Given the description of an element on the screen output the (x, y) to click on. 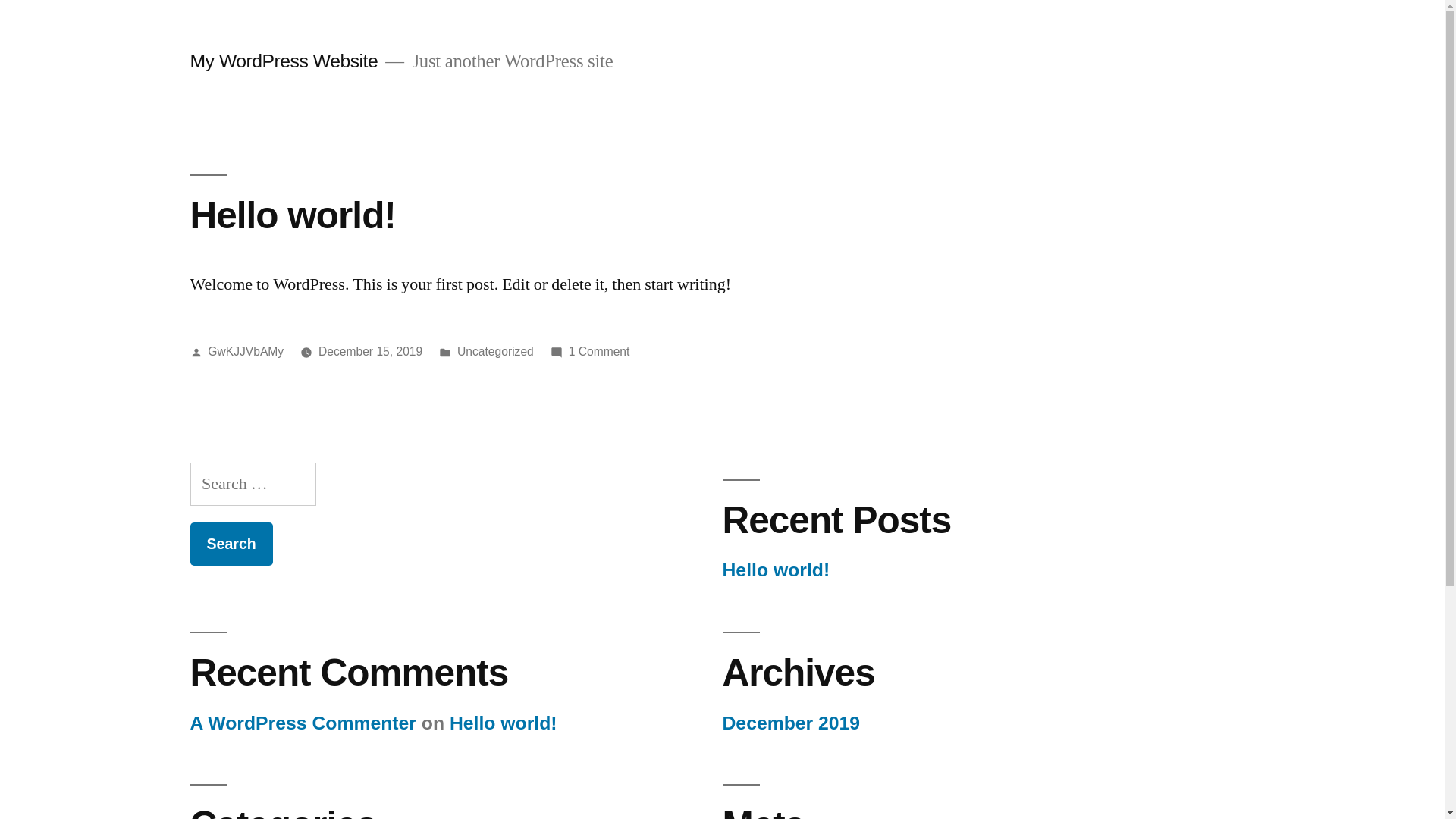
December 15, 2019 Element type: text (370, 351)
December 2019 Element type: text (790, 722)
1 Comment
on Hello world! Element type: text (599, 351)
My WordPress Website Element type: text (283, 60)
Hello world! Element type: text (775, 569)
Uncategorized Element type: text (495, 351)
Search Element type: text (230, 543)
Hello world! Element type: text (503, 722)
Hello world! Element type: text (292, 214)
GwKJJVbAMy Element type: text (245, 351)
A WordPress Commenter Element type: text (302, 722)
